Given the description of an element on the screen output the (x, y) to click on. 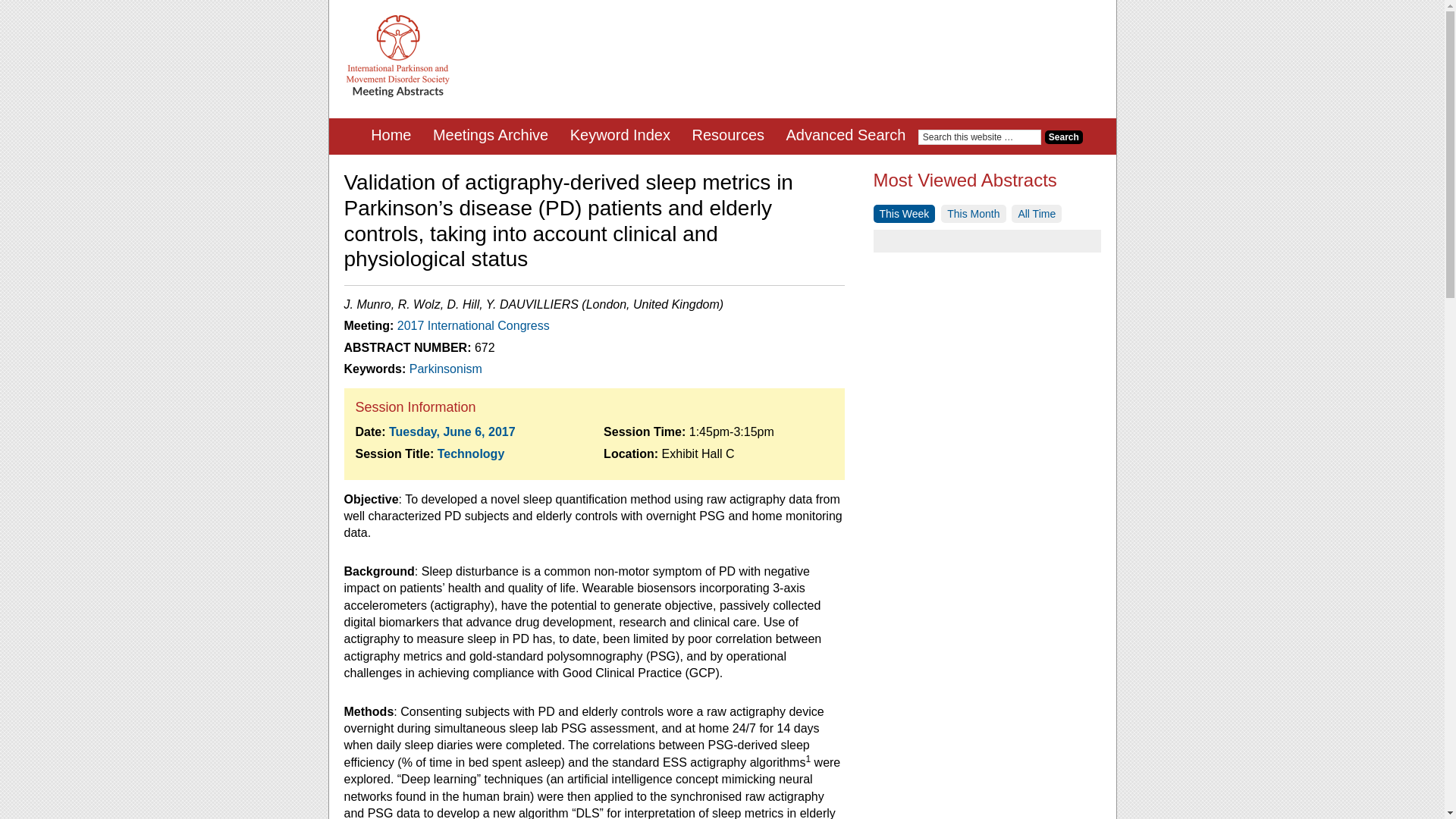
3rd party ad content (824, 49)
MDS Abstracts (397, 56)
Technology (471, 453)
This Week (904, 213)
This Month (973, 213)
Tuesday, June 6, 2017 (451, 431)
Home (390, 135)
Search (1064, 137)
Parkinsonism (445, 368)
All Time (1036, 213)
